Given the description of an element on the screen output the (x, y) to click on. 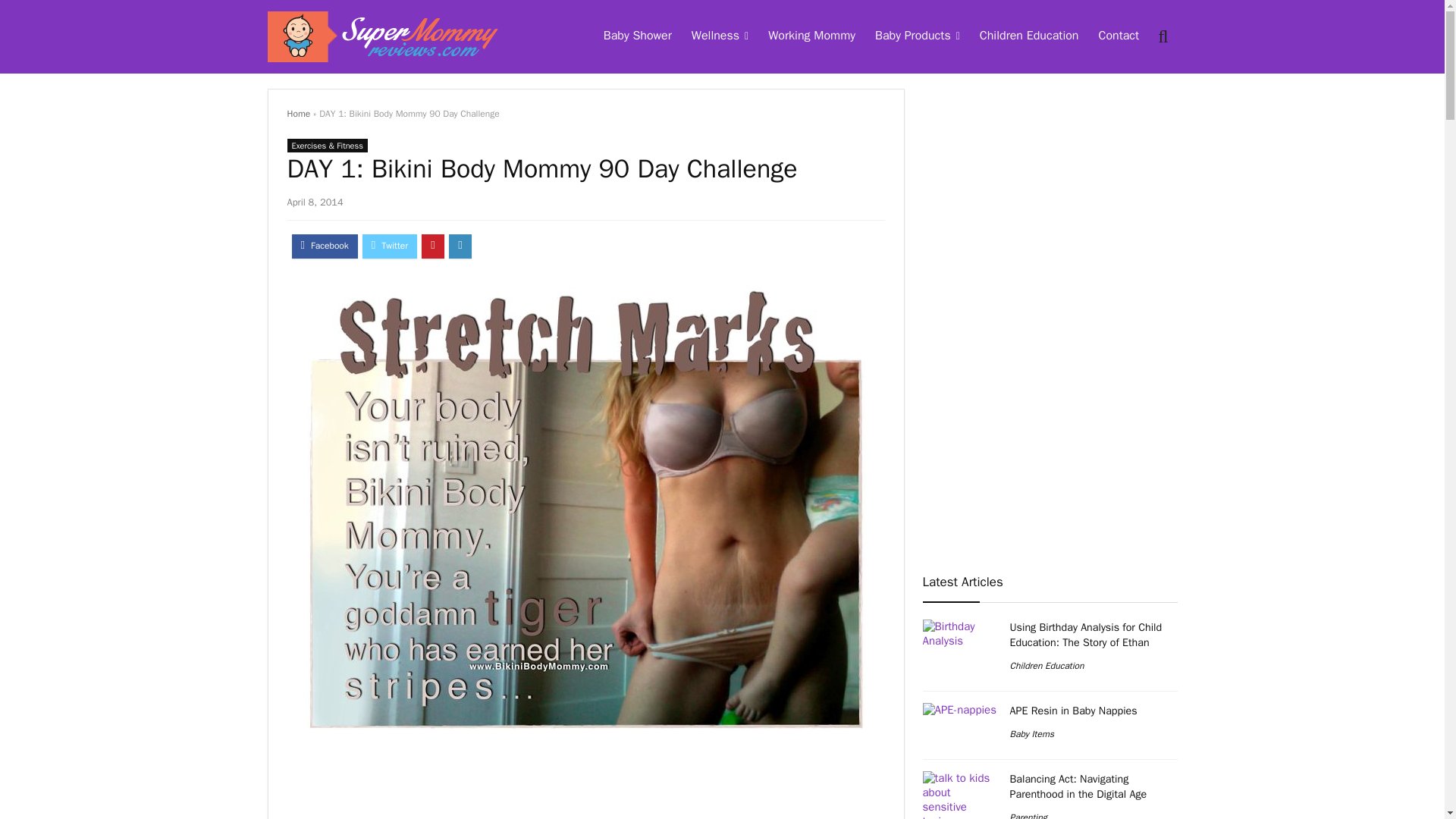
Children Education (1029, 36)
Wellness (719, 36)
Baby Products (916, 36)
Working Mommy (811, 36)
Home (298, 113)
Baby Shower (637, 36)
Contact (1117, 36)
